Given the description of an element on the screen output the (x, y) to click on. 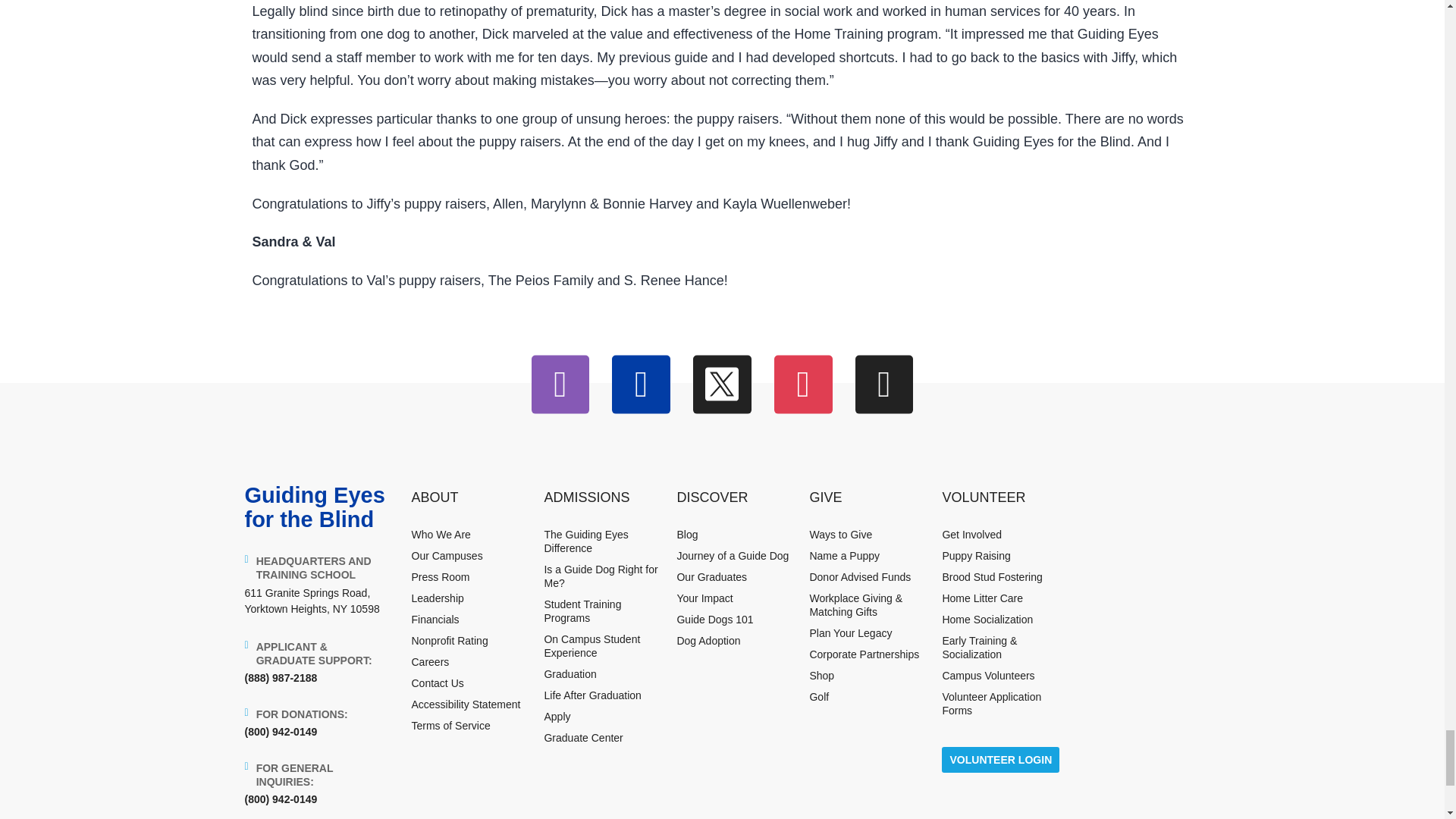
Twitter (722, 384)
Plan Your Legacy (850, 633)
Youtube (803, 384)
Facebook (640, 384)
Instagram (560, 384)
